Given the description of an element on the screen output the (x, y) to click on. 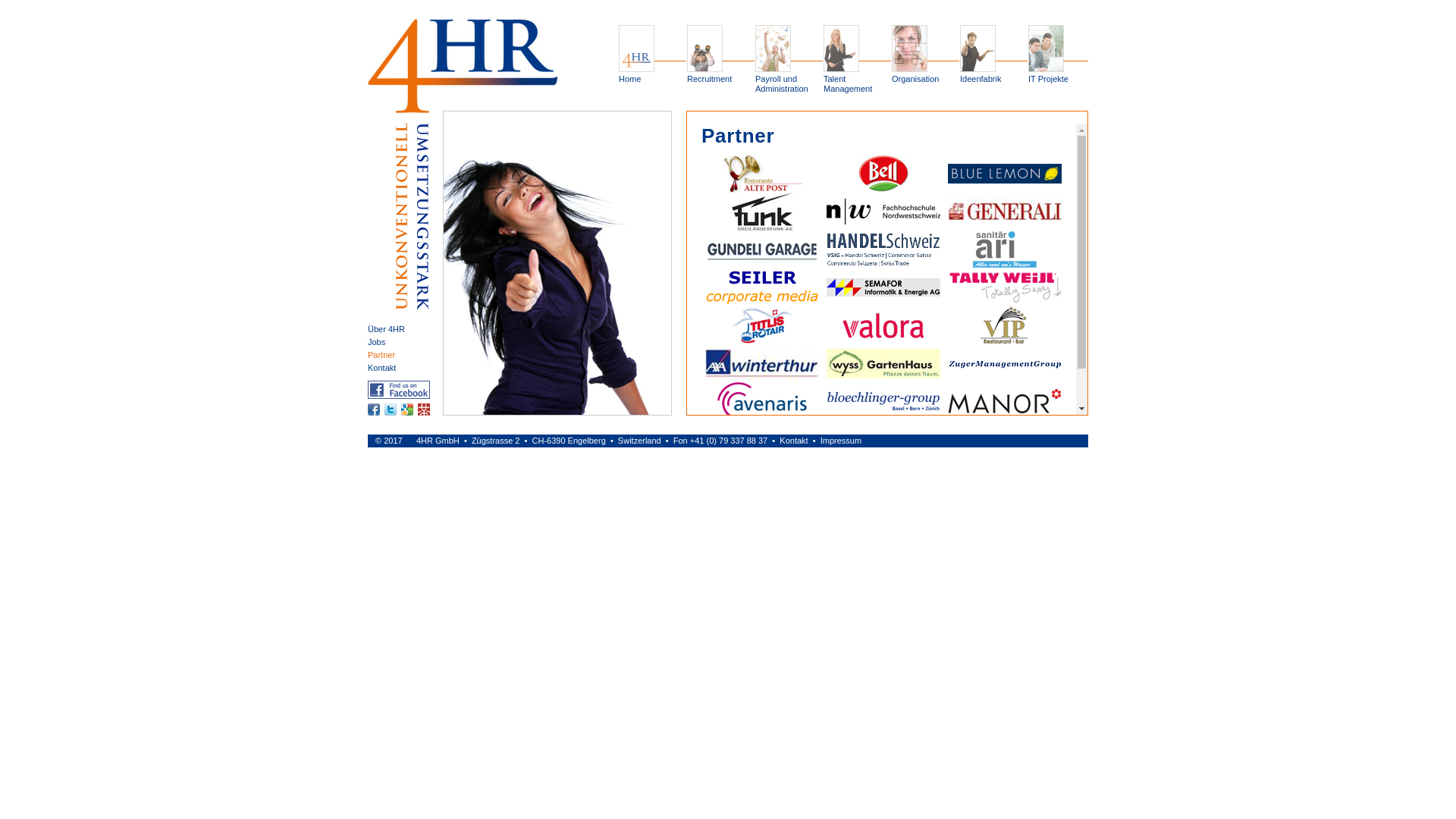
Organisation Element type: text (908, 59)
IT Projekte Element type: text (1045, 59)
Kontakt Element type: text (381, 367)
Home Element type: text (635, 59)
Kontakt Element type: text (793, 440)
Talent Management Element type: text (840, 59)
Payroll und Administration Element type: text (772, 59)
Impressum Element type: text (840, 440)
Recruitment Element type: text (703, 59)
Ideenfabrik Element type: text (976, 59)
Jobs Element type: text (376, 341)
